Given the description of an element on the screen output the (x, y) to click on. 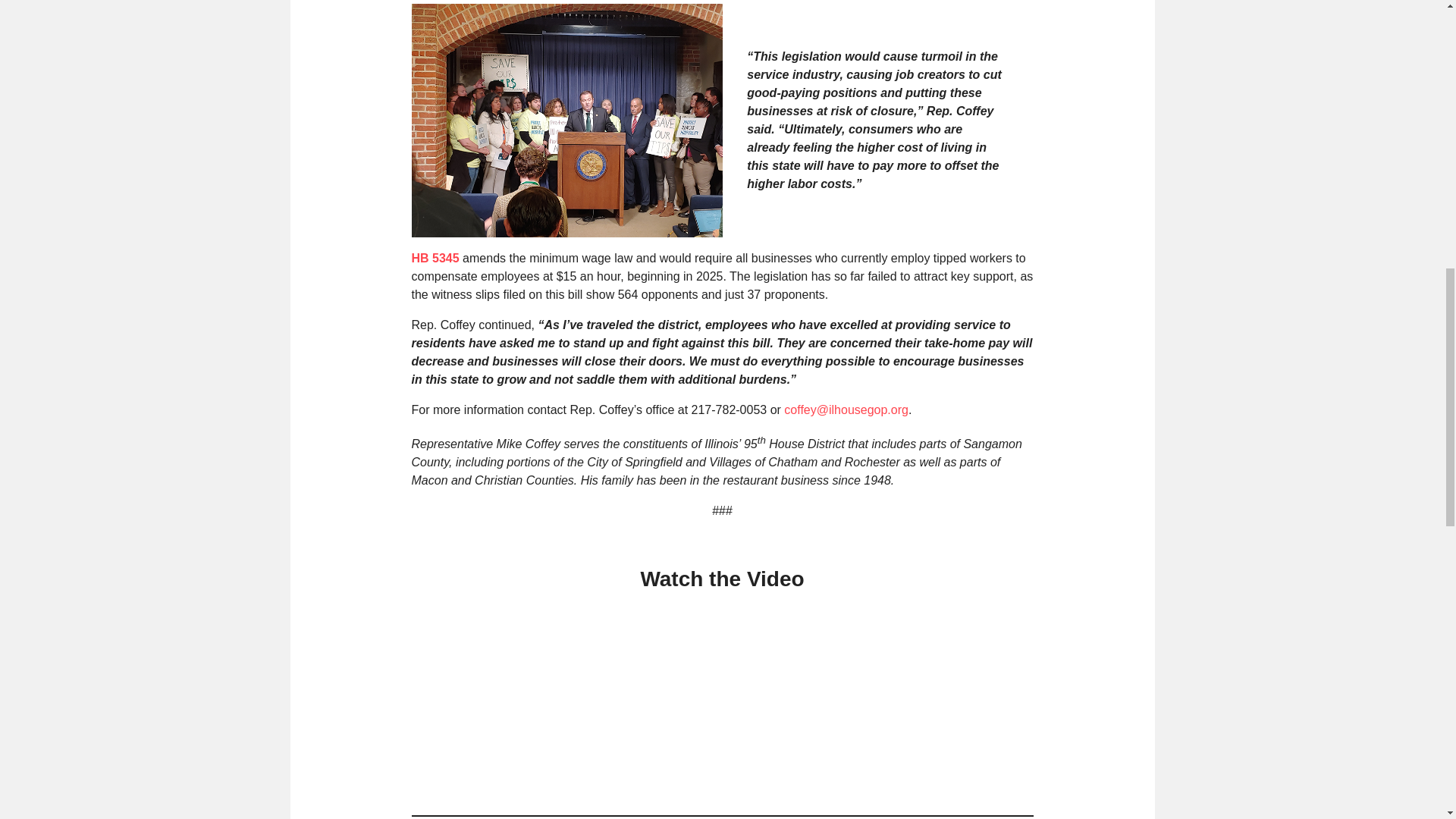
HB 5345 (434, 257)
